Given the description of an element on the screen output the (x, y) to click on. 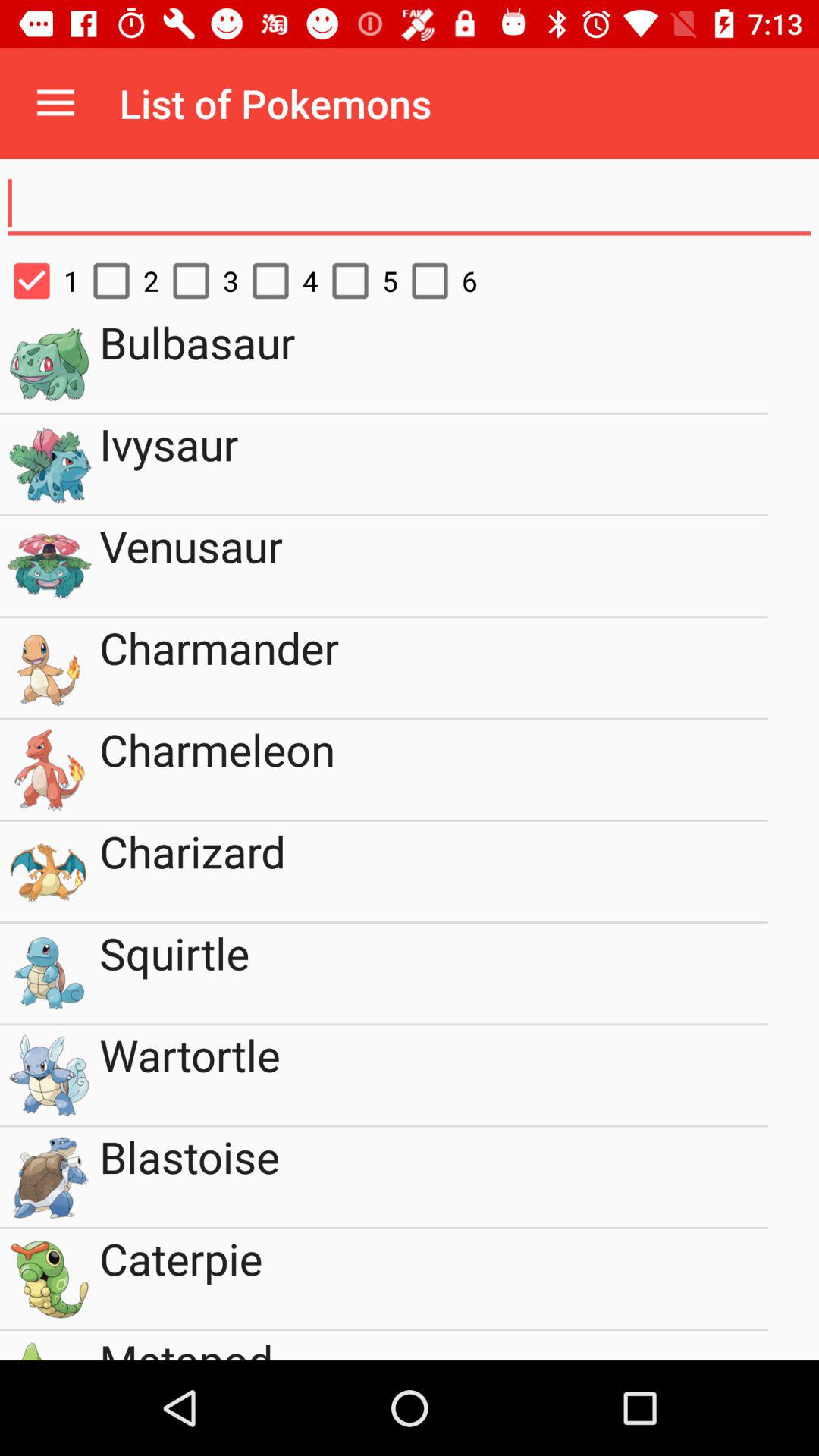
type name (409, 204)
